Given the description of an element on the screen output the (x, y) to click on. 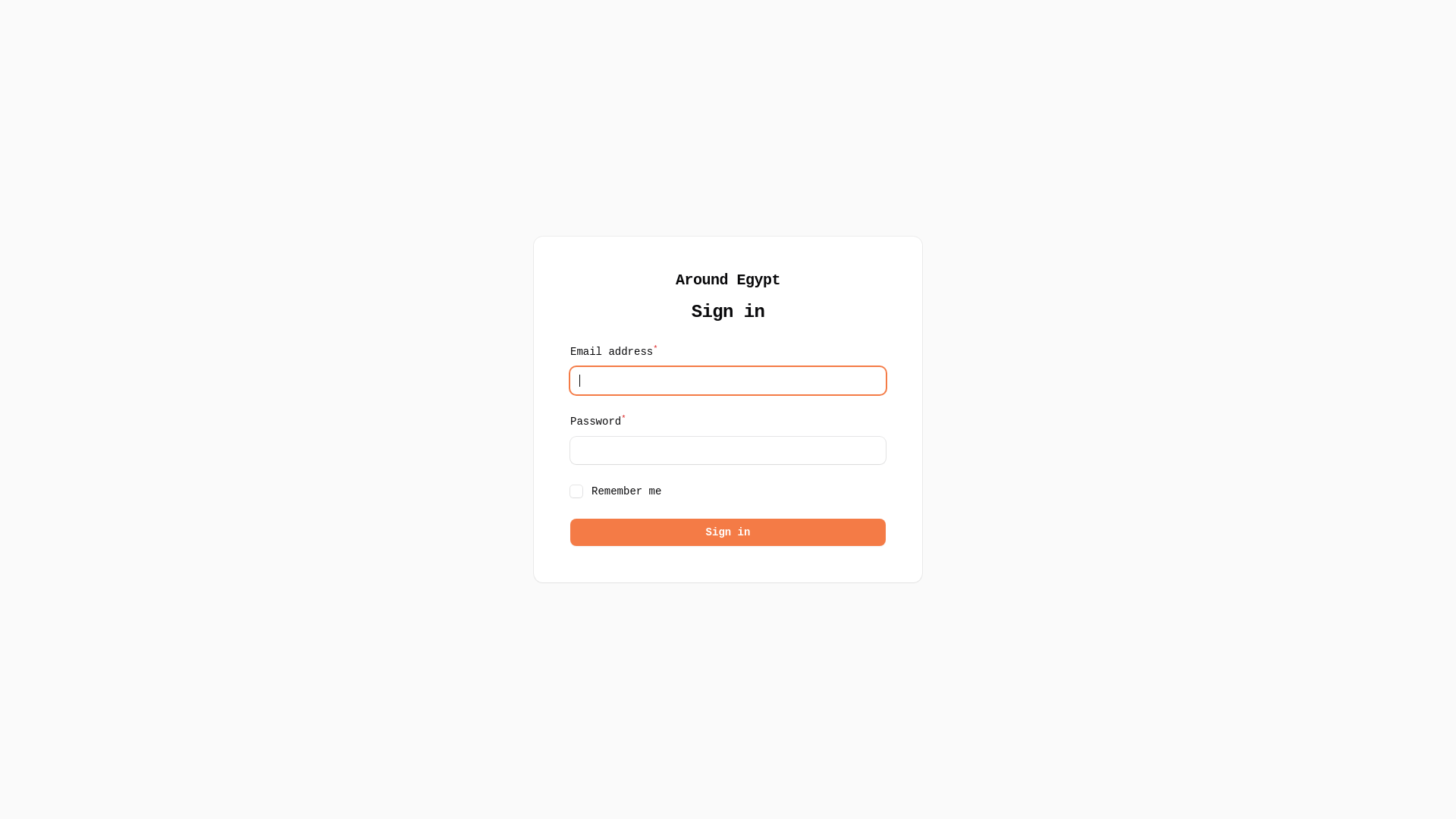
Sign in Element type: text (727, 532)
